Given the description of an element on the screen output the (x, y) to click on. 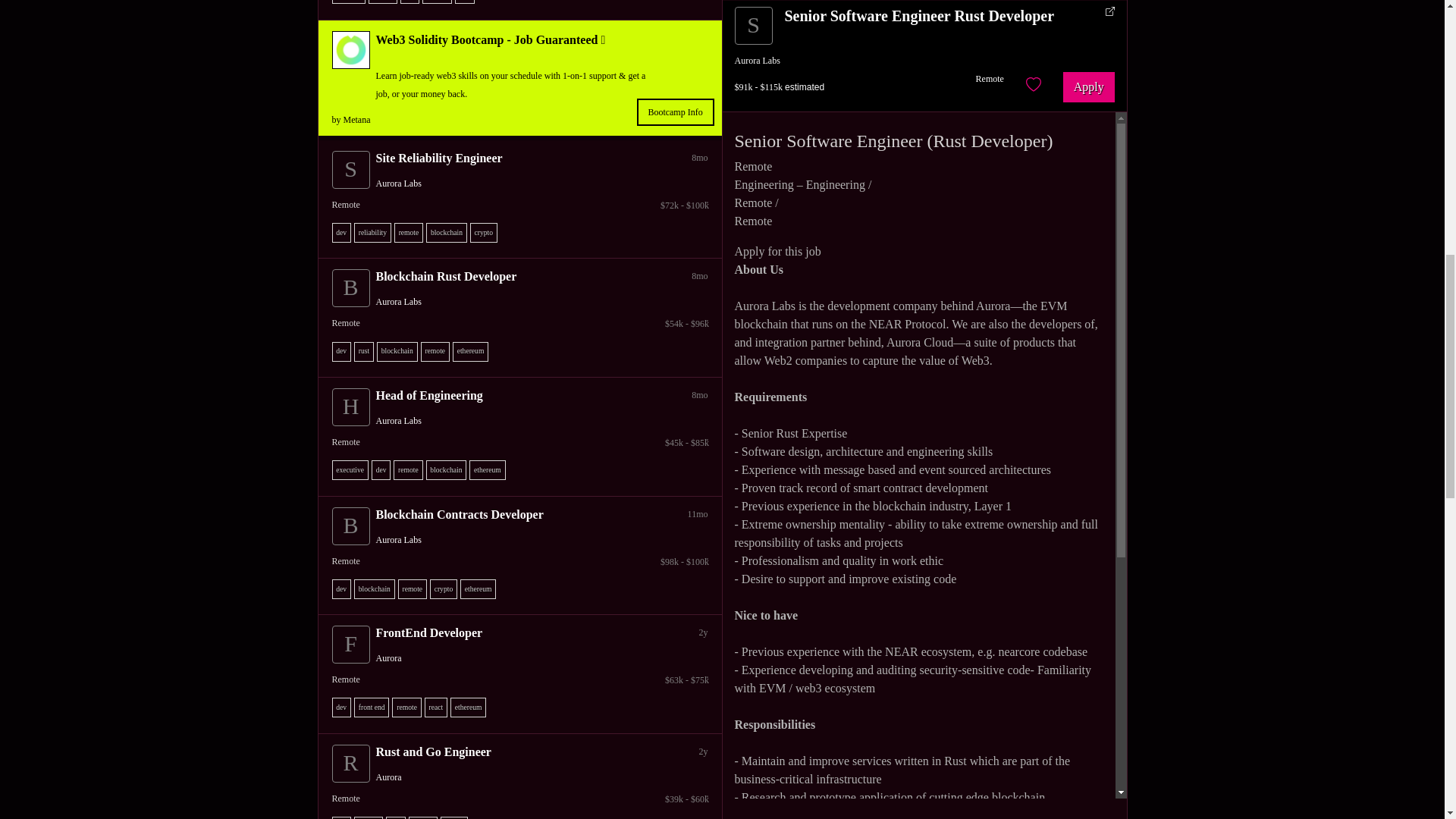
Estimated salary based on similar jobs (522, 798)
Estimated salary based on similar jobs (522, 323)
Estimated salary based on similar jobs (522, 205)
Estimated salary based on similar jobs (522, 442)
Estimated salary based on similar jobs (522, 680)
Estimated salary based on similar jobs (522, 561)
